Given the description of an element on the screen output the (x, y) to click on. 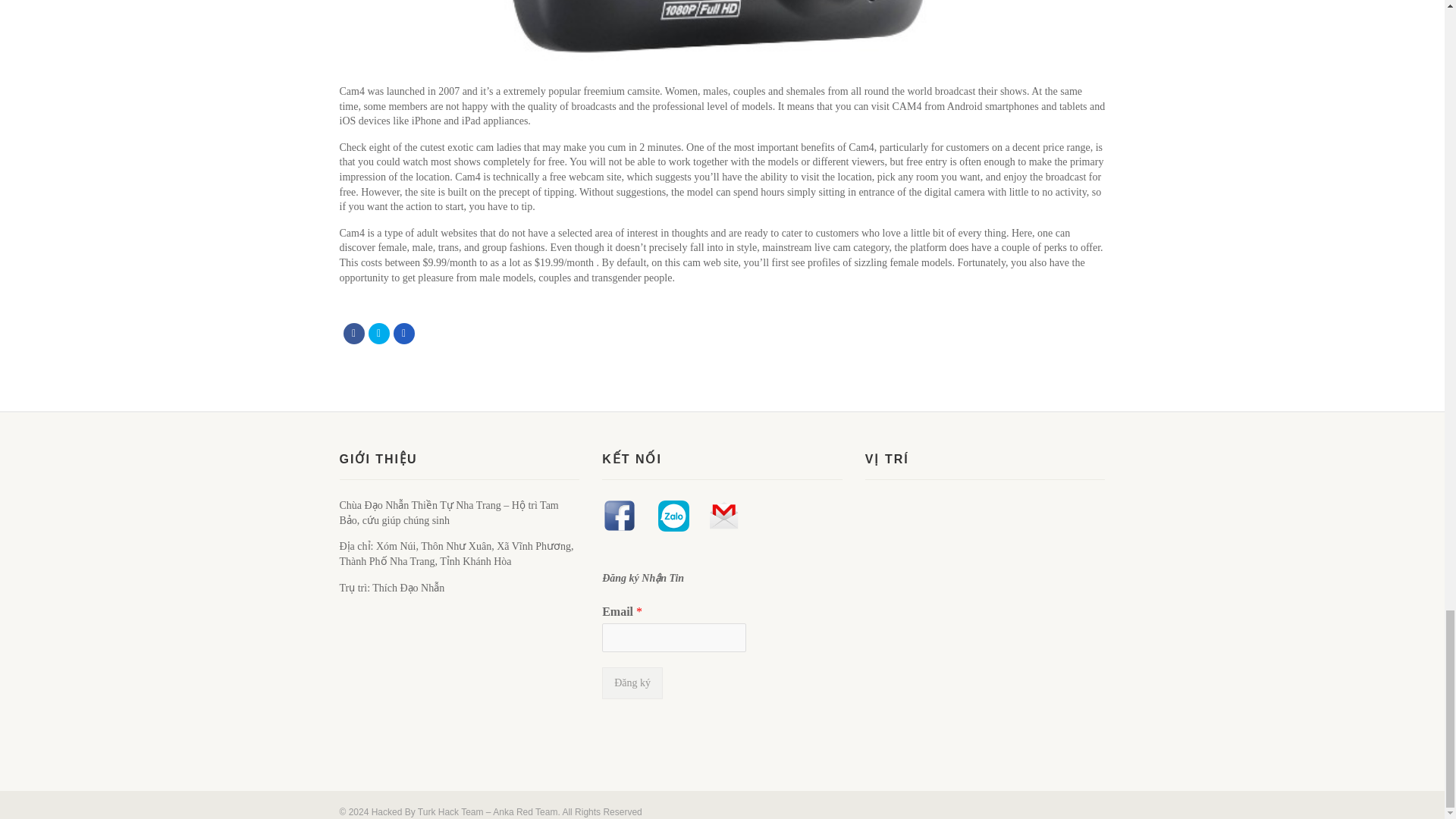
Share on Facebook (353, 332)
Tweet (379, 332)
